Given the description of an element on the screen output the (x, y) to click on. 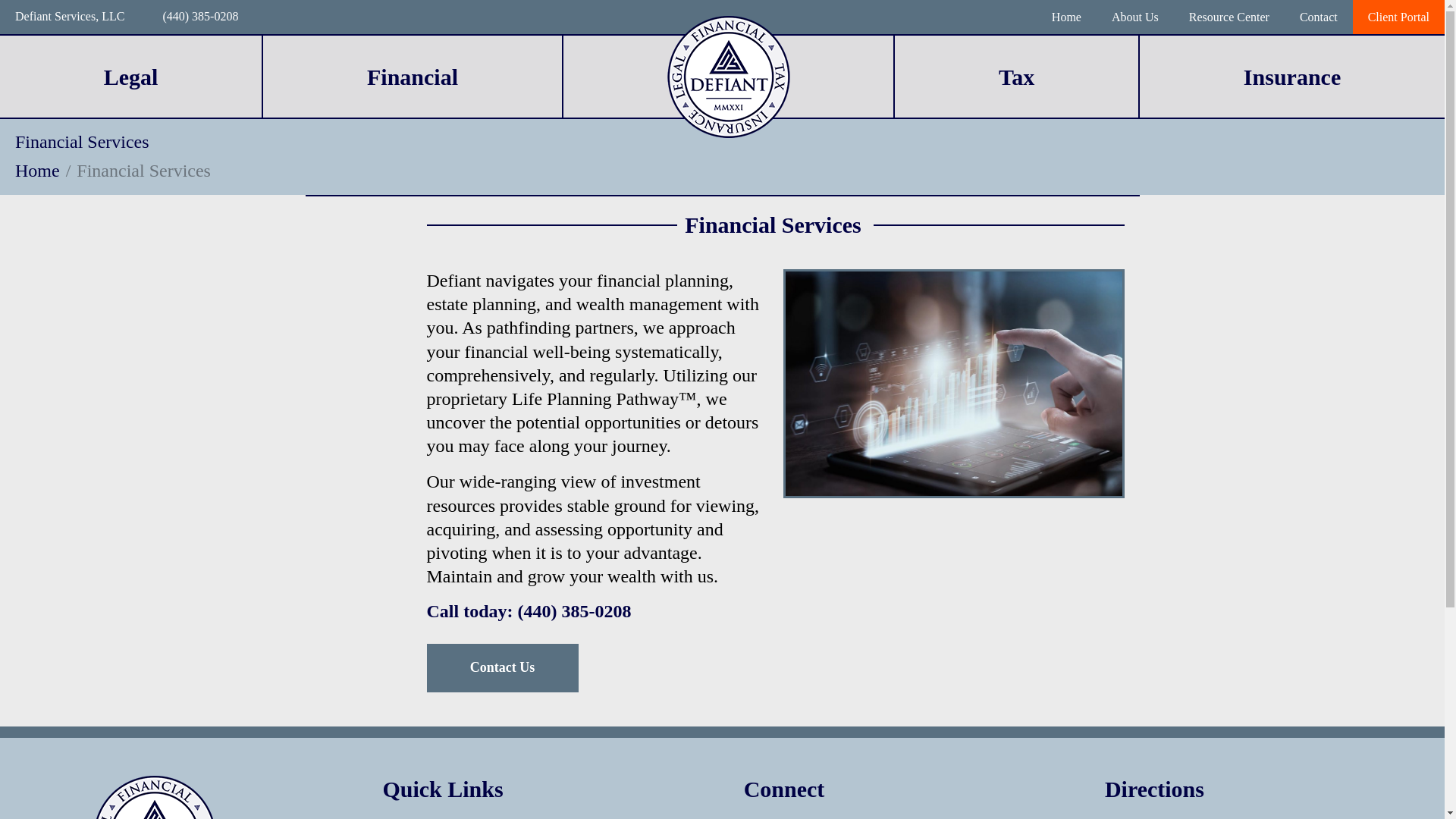
About Us (1134, 17)
Financial (412, 76)
Resource Center (1228, 17)
Tax (1016, 76)
Home (36, 170)
Contact (1318, 17)
Home (1066, 17)
Legal (131, 76)
Contact Us (502, 667)
